Given the description of an element on the screen output the (x, y) to click on. 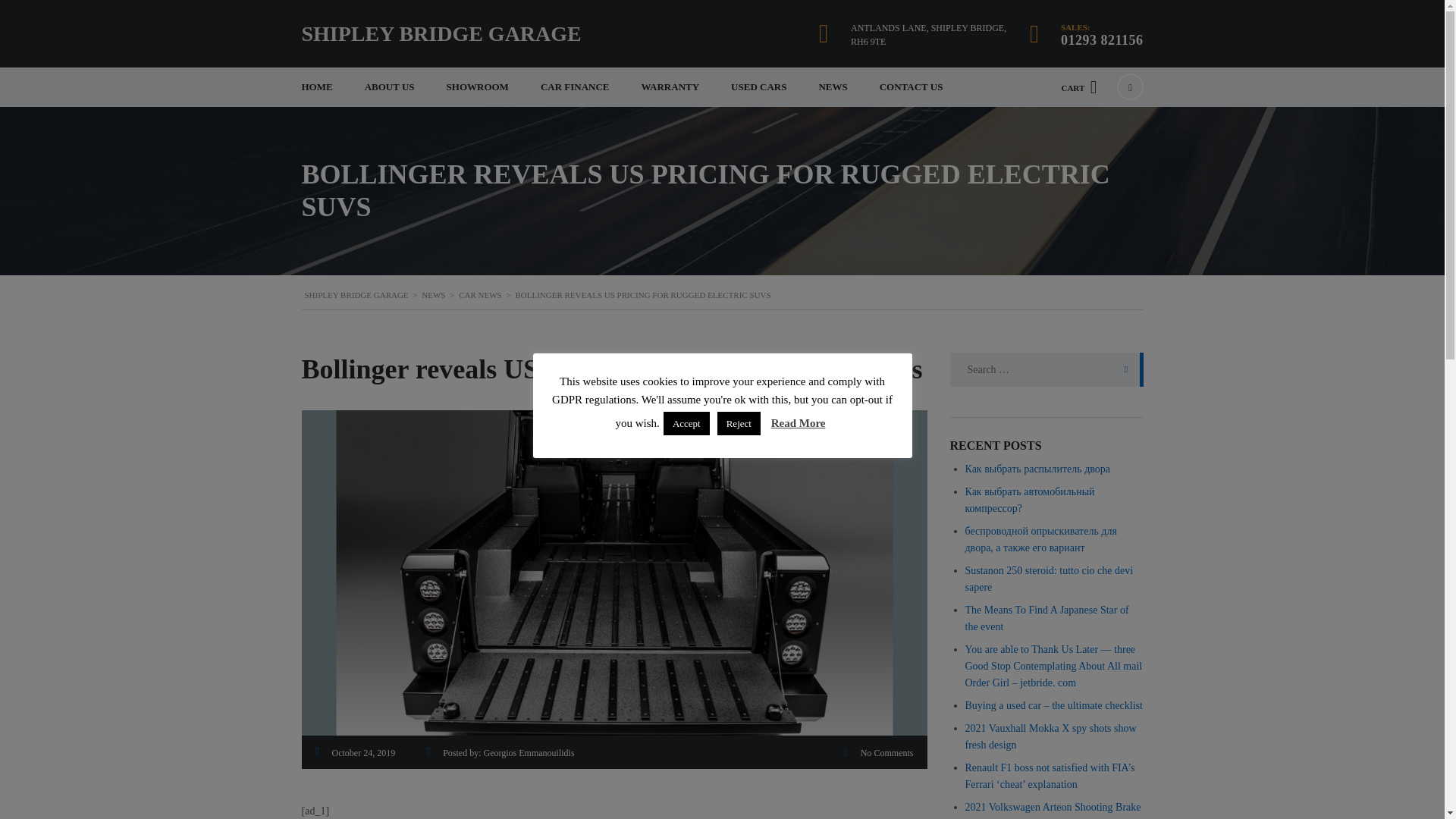
CART (1078, 87)
CAR FINANCE (575, 87)
WARRANTY (671, 87)
Watch shop items (1078, 87)
Go to the Car News category archives. (480, 294)
NEWS (433, 294)
Go to Shipley Bridge Garage. (356, 294)
warranty (671, 87)
ABOUT US (389, 87)
01293 821156 (1101, 39)
CONTACT US (911, 87)
2021 Vauxhall Mokka X spy shots show fresh design (1049, 736)
SHIPLEY BRIDGE GARAGE (356, 294)
USED CARS (758, 87)
Search (1121, 369)
